Given the description of an element on the screen output the (x, y) to click on. 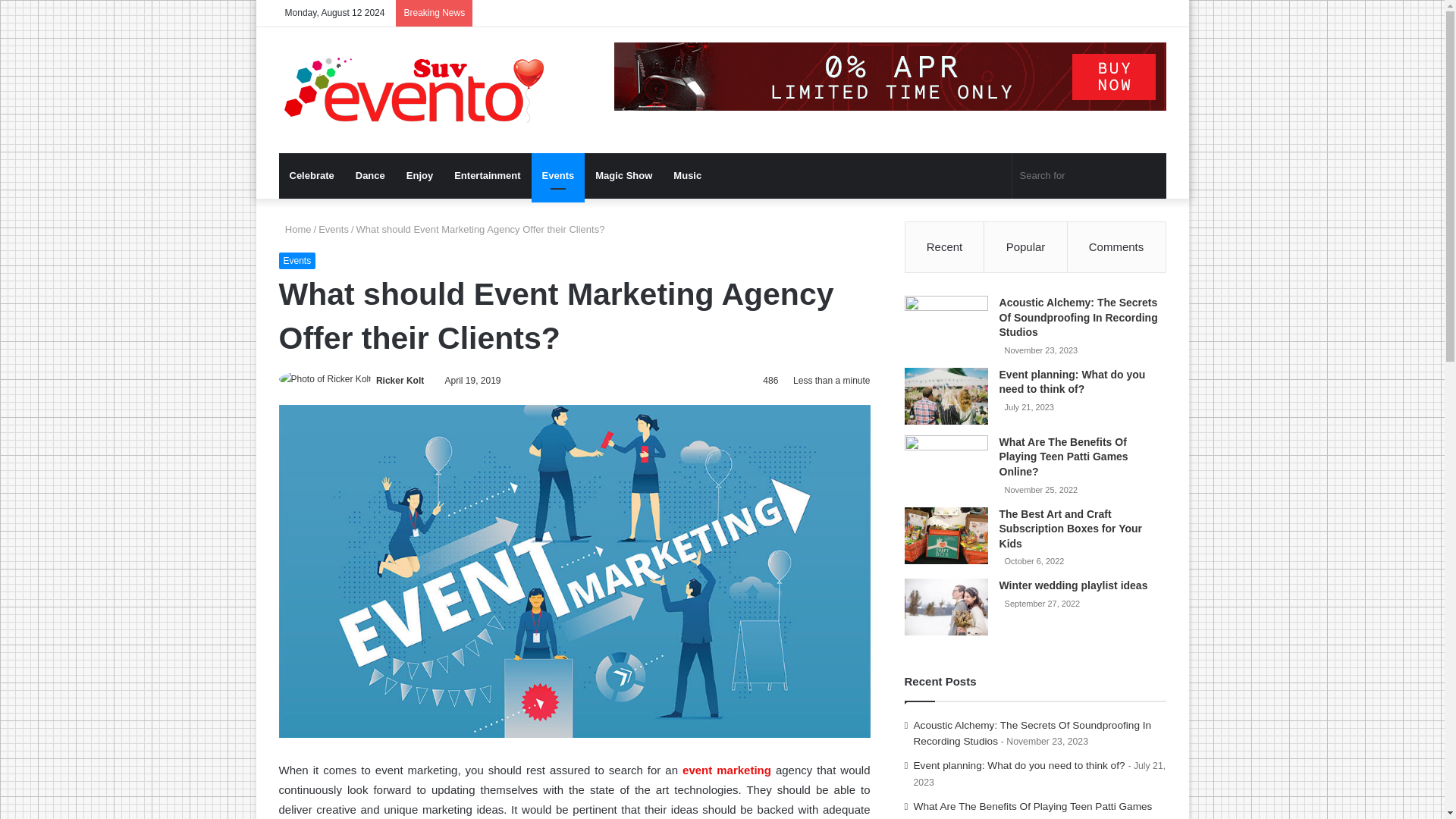
Events (333, 229)
Music (686, 176)
Search for (1088, 176)
Home (295, 229)
Ricker Kolt (399, 380)
Magic Show (623, 176)
Ricker Kolt (399, 380)
Dance (370, 176)
Events (297, 260)
event marketing (726, 769)
